Given the description of an element on the screen output the (x, y) to click on. 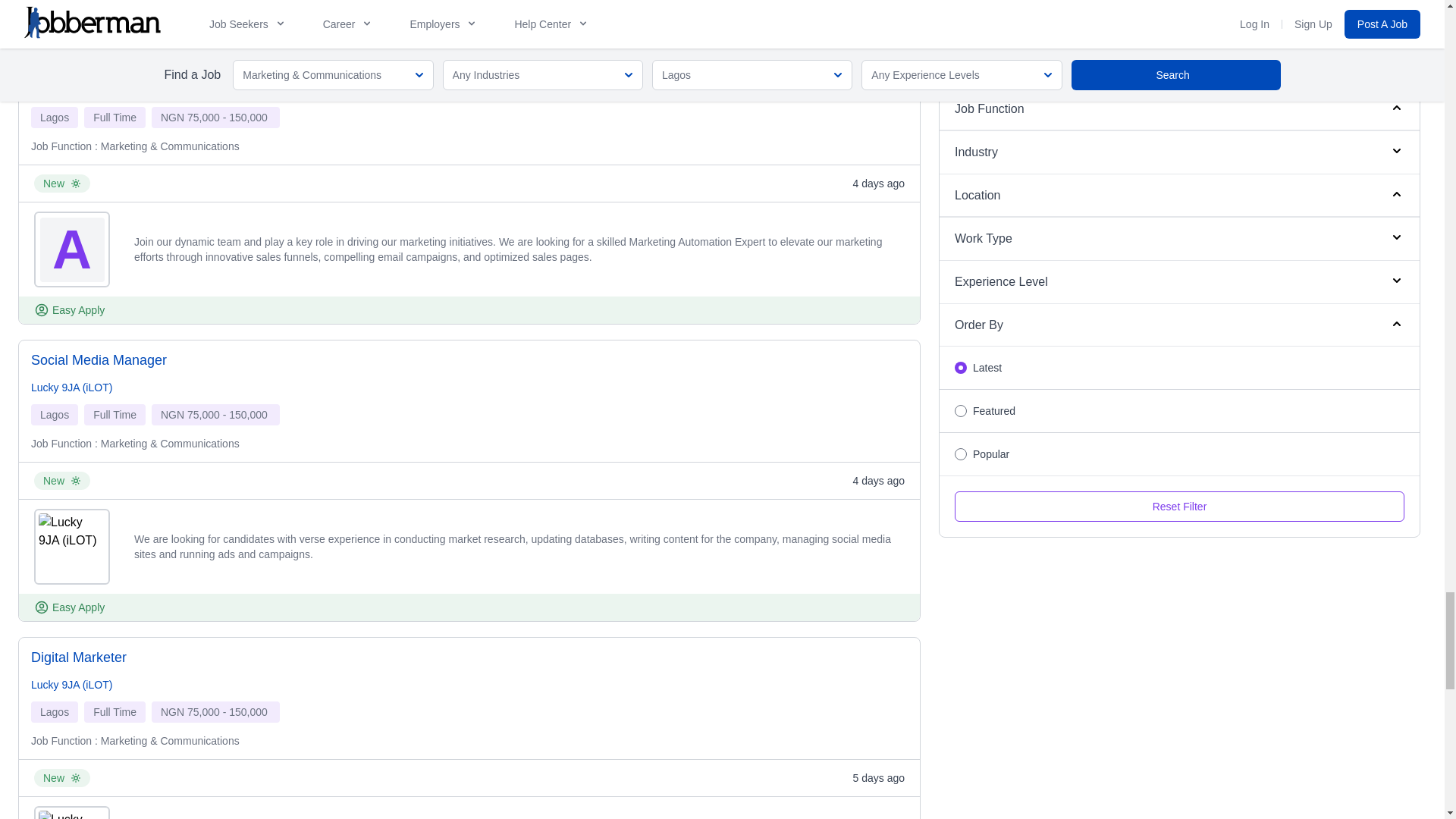
Marketing Automation Expert (118, 62)
Social Media Manager (98, 360)
Digital Marketer (78, 657)
